Given the description of an element on the screen output the (x, y) to click on. 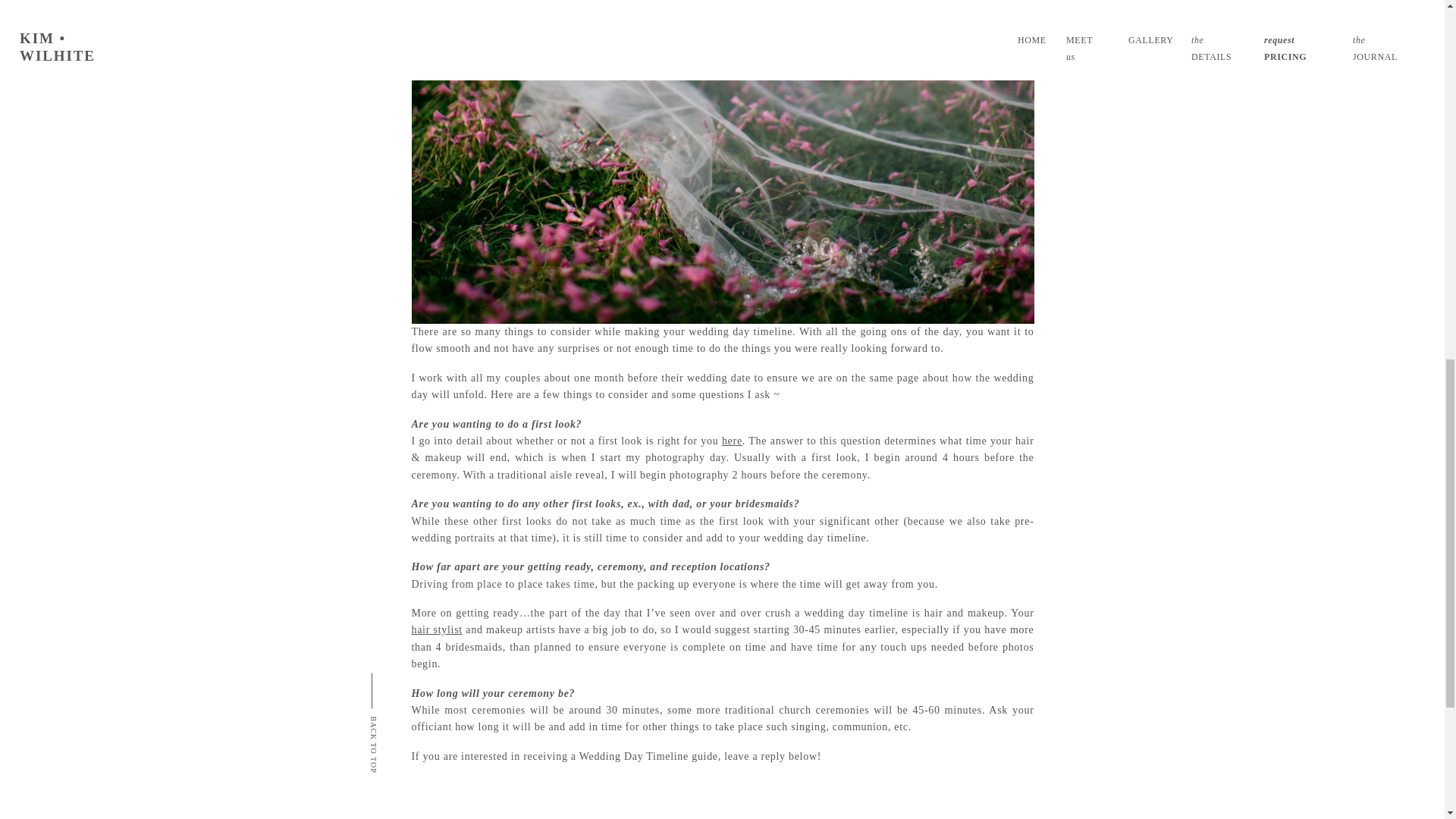
hair stylist (435, 629)
here (732, 440)
BACK TO TOP (412, 721)
